Given the description of an element on the screen output the (x, y) to click on. 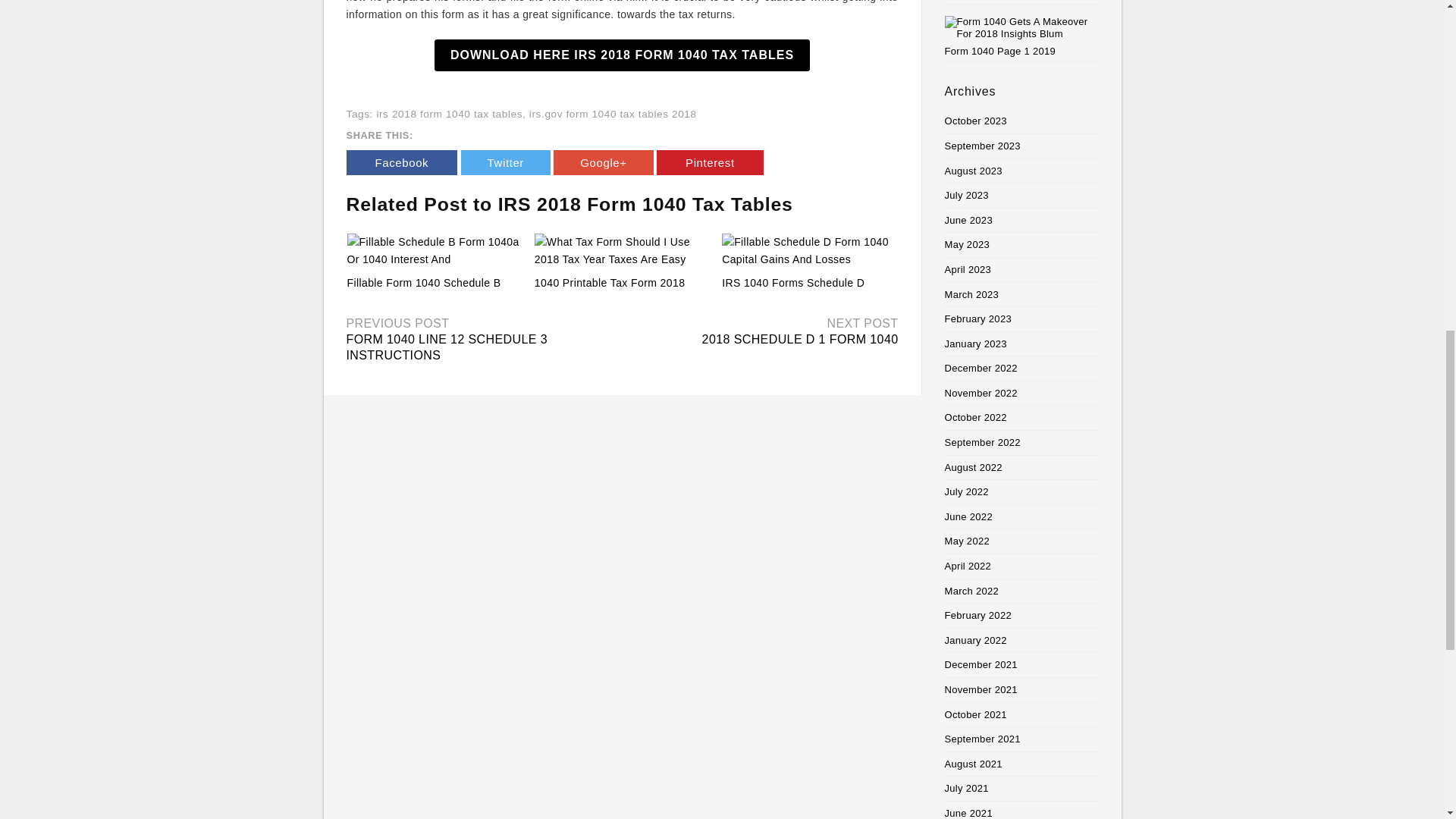
Fillable Form 1040 Schedule B (423, 282)
DOWNLOAD HERE IRS 2018 FORM 1040 TAX TABLES (621, 55)
IRS 1040 Forms Schedule D (793, 282)
Fillable Form 1040 Schedule B (423, 282)
Facebook (401, 162)
IRS 1040 Forms Schedule D (793, 282)
Form 1040 Page 1 2019 (1021, 36)
irs.gov form 1040 tax tables 2018 (613, 113)
2018 SCHEDULE D 1 FORM 1040 (799, 338)
IRS 1040 Forms Schedule D (809, 251)
Pinterest (709, 162)
DOWNLOAD HERE IRS 2018 FORM 1040 TAX TABLES (621, 55)
Twitter (505, 162)
1040 Printable Tax Form 2018 (609, 282)
1040 Printable Tax Form 2018 (622, 251)
